Given the description of an element on the screen output the (x, y) to click on. 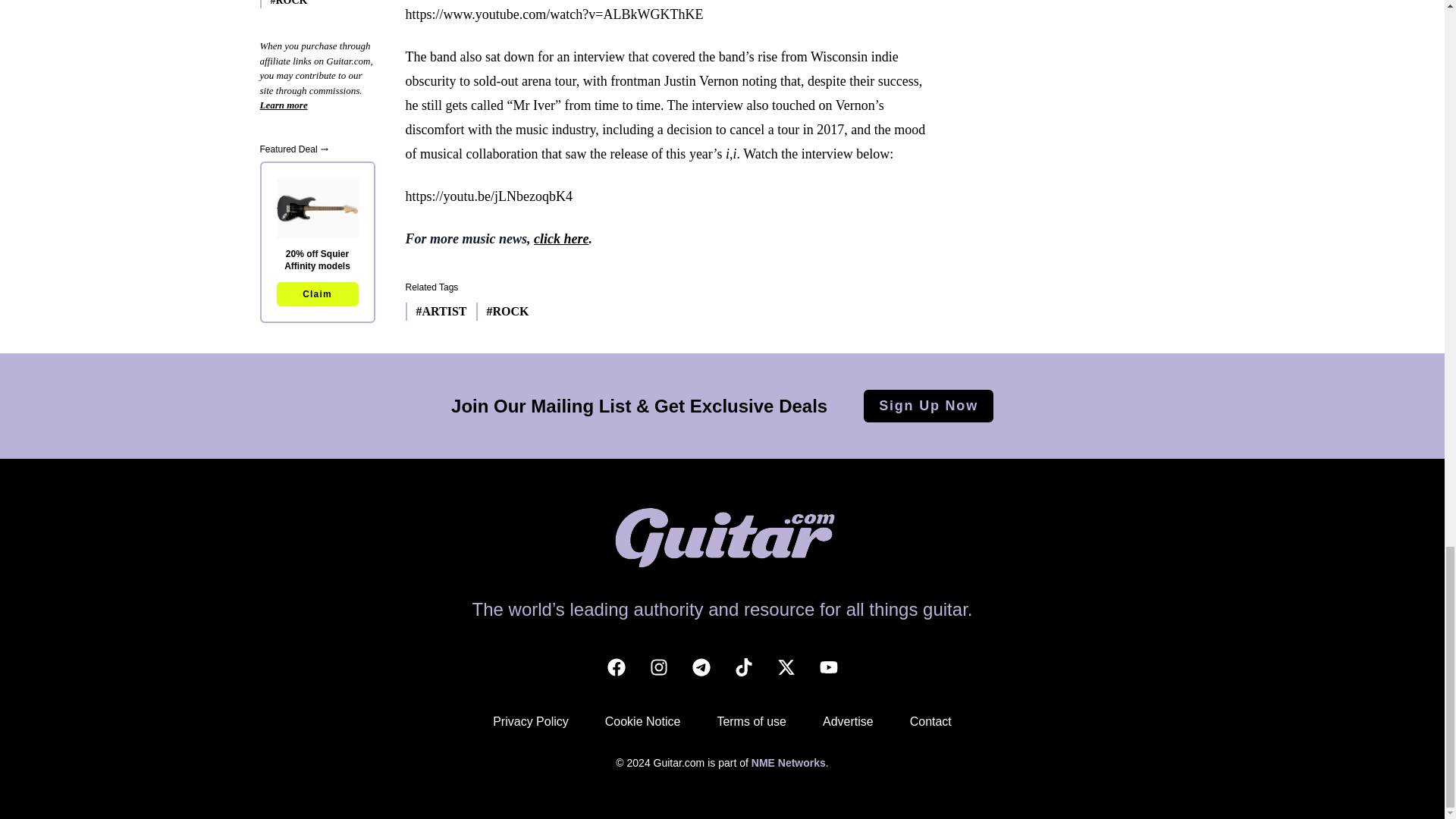
Rock (502, 311)
click here (561, 238)
Sign Up Now (927, 405)
Artist (434, 311)
